Given the description of an element on the screen output the (x, y) to click on. 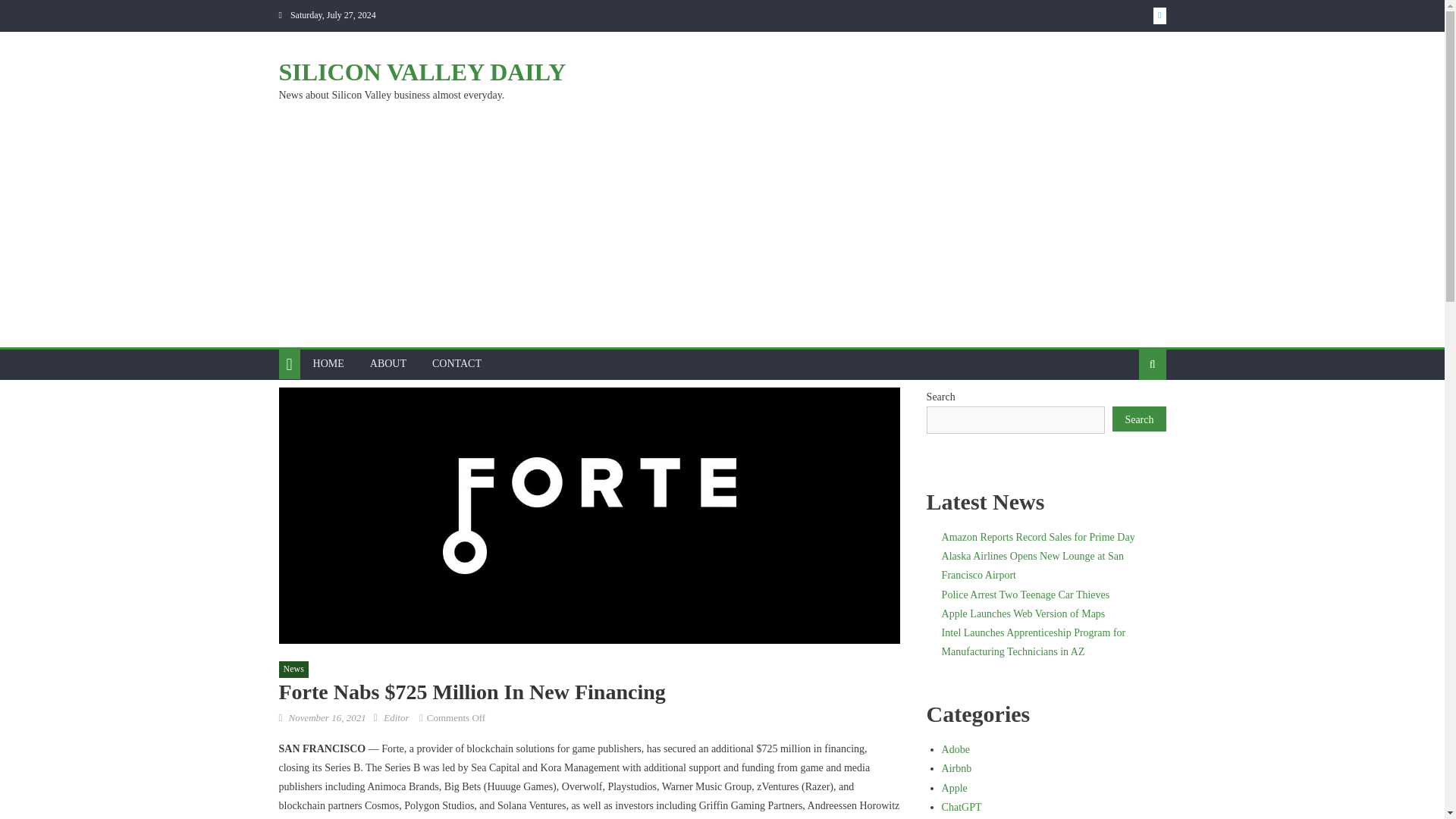
Adobe (955, 749)
Editor (396, 717)
Apple Launches Web Version of Maps (1023, 613)
Alaska Airlines Opens New Lounge at San Francisco Airport (1033, 565)
November 16, 2021 (326, 717)
ABOUT (387, 363)
CONTACT (456, 363)
Amazon Reports Record Sales for Prime Day (1038, 536)
Search (1139, 418)
Police Arrest Two Teenage Car Thieves (1025, 594)
SILICON VALLEY DAILY (422, 71)
HOME (328, 363)
News (293, 669)
